Given the description of an element on the screen output the (x, y) to click on. 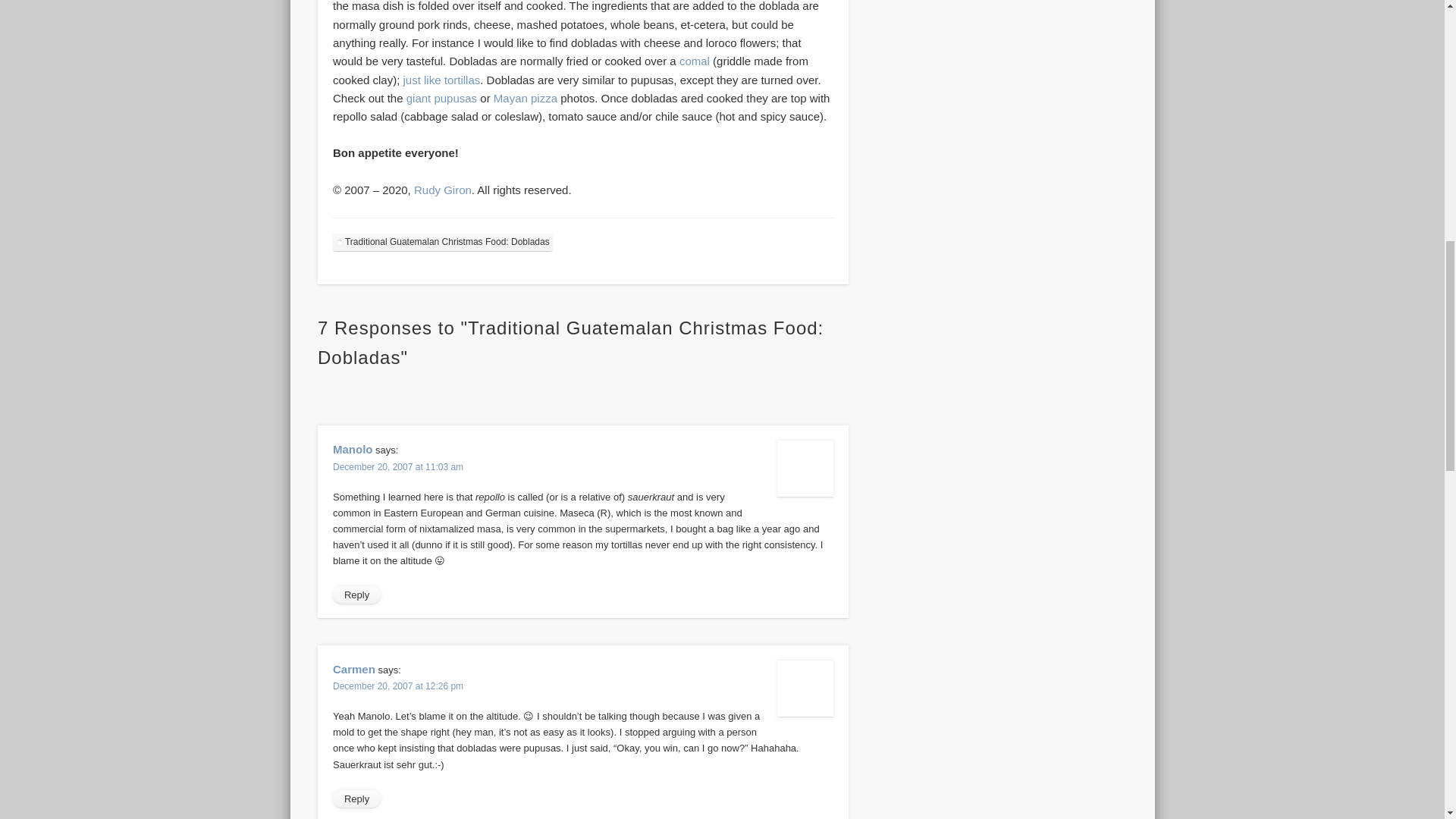
Carmen (354, 668)
Mayan pizza (525, 97)
Traditional Guatemalan Christmas Food: Dobladas (443, 241)
Manolo (352, 449)
Reply (356, 595)
Reply (356, 799)
December 20, 2007 at 11:03 am (398, 466)
comal (694, 60)
giant pupusas (441, 97)
December 20, 2007 at 12:26 pm (398, 685)
